Given the description of an element on the screen output the (x, y) to click on. 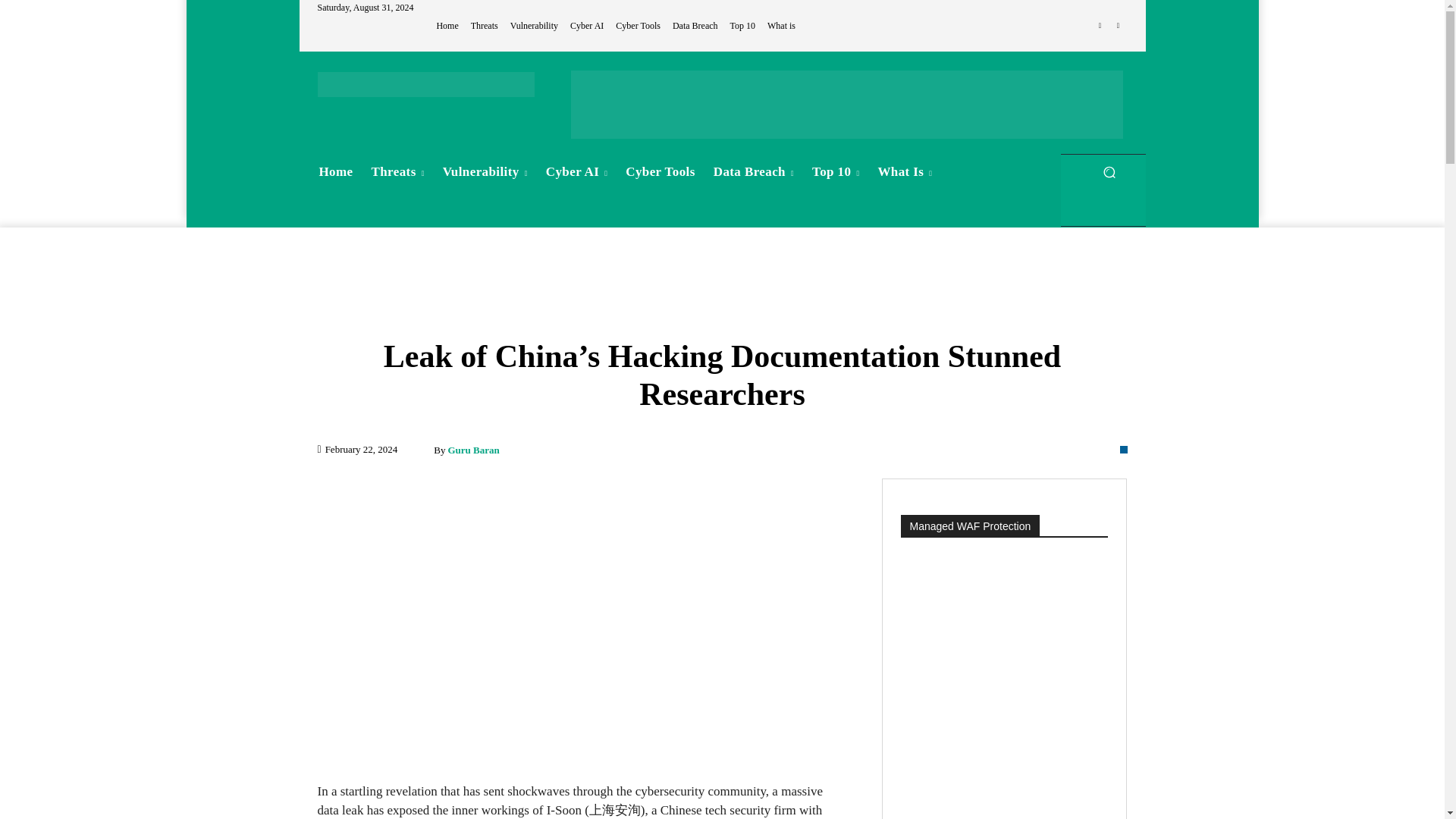
Twitter (1117, 25)
What is (780, 25)
Home (334, 171)
Cyber Tools (638, 25)
Top 10 (742, 25)
Threats (397, 171)
Vulnerability (534, 25)
Threats (483, 25)
Home (446, 25)
Cyber AI (587, 25)
